Given the description of an element on the screen output the (x, y) to click on. 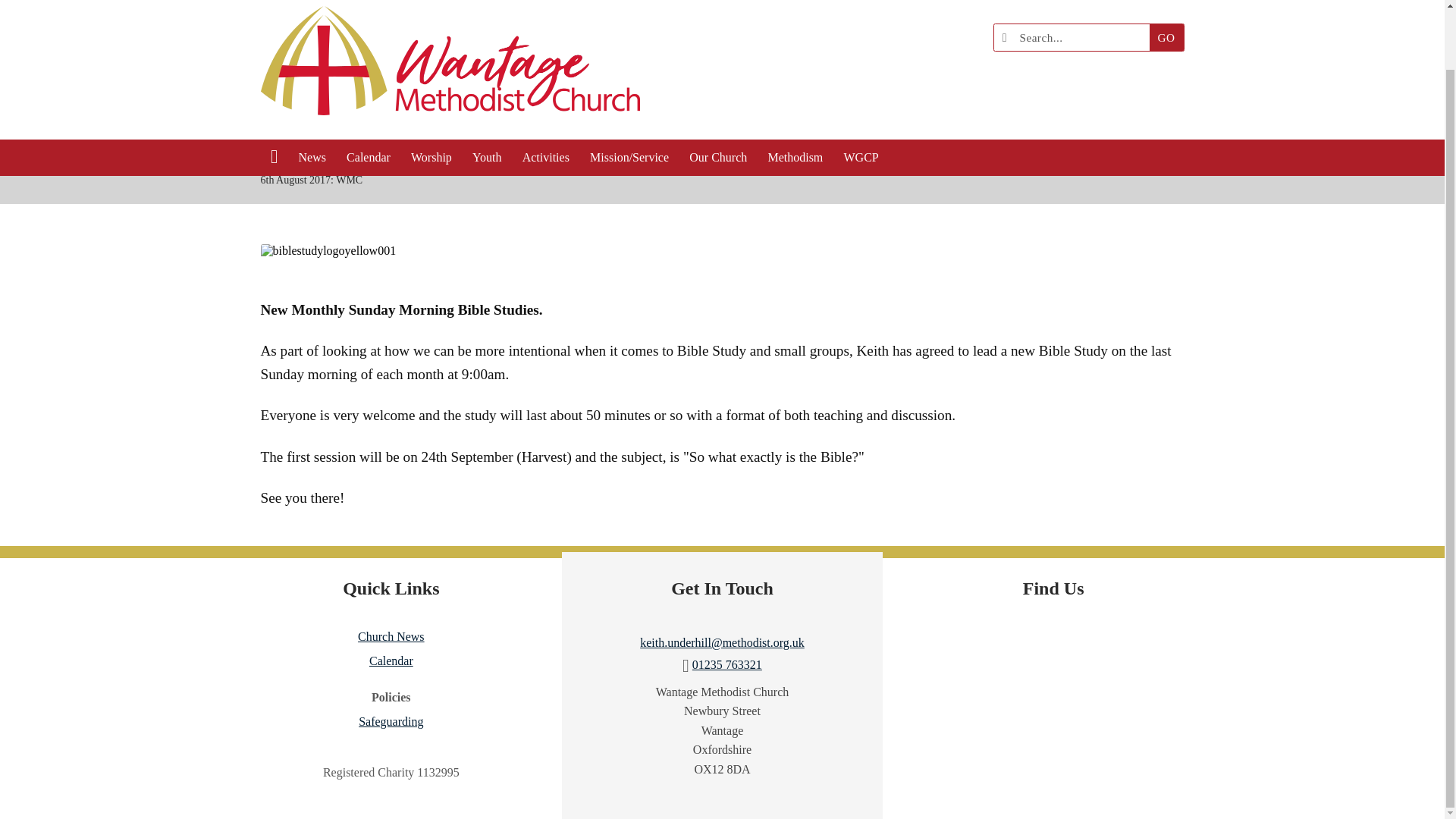
Call now (727, 664)
Visit our X Feed (1142, 11)
Activities (545, 93)
Youth (486, 93)
Sign into the Cloud (1174, 11)
Home (274, 93)
Worship (430, 93)
News (312, 93)
Calendar (368, 93)
Home (925, 156)
Wantage Methodist Church Home (450, 37)
Visit our Facebook Page (1110, 11)
